Given the description of an element on the screen output the (x, y) to click on. 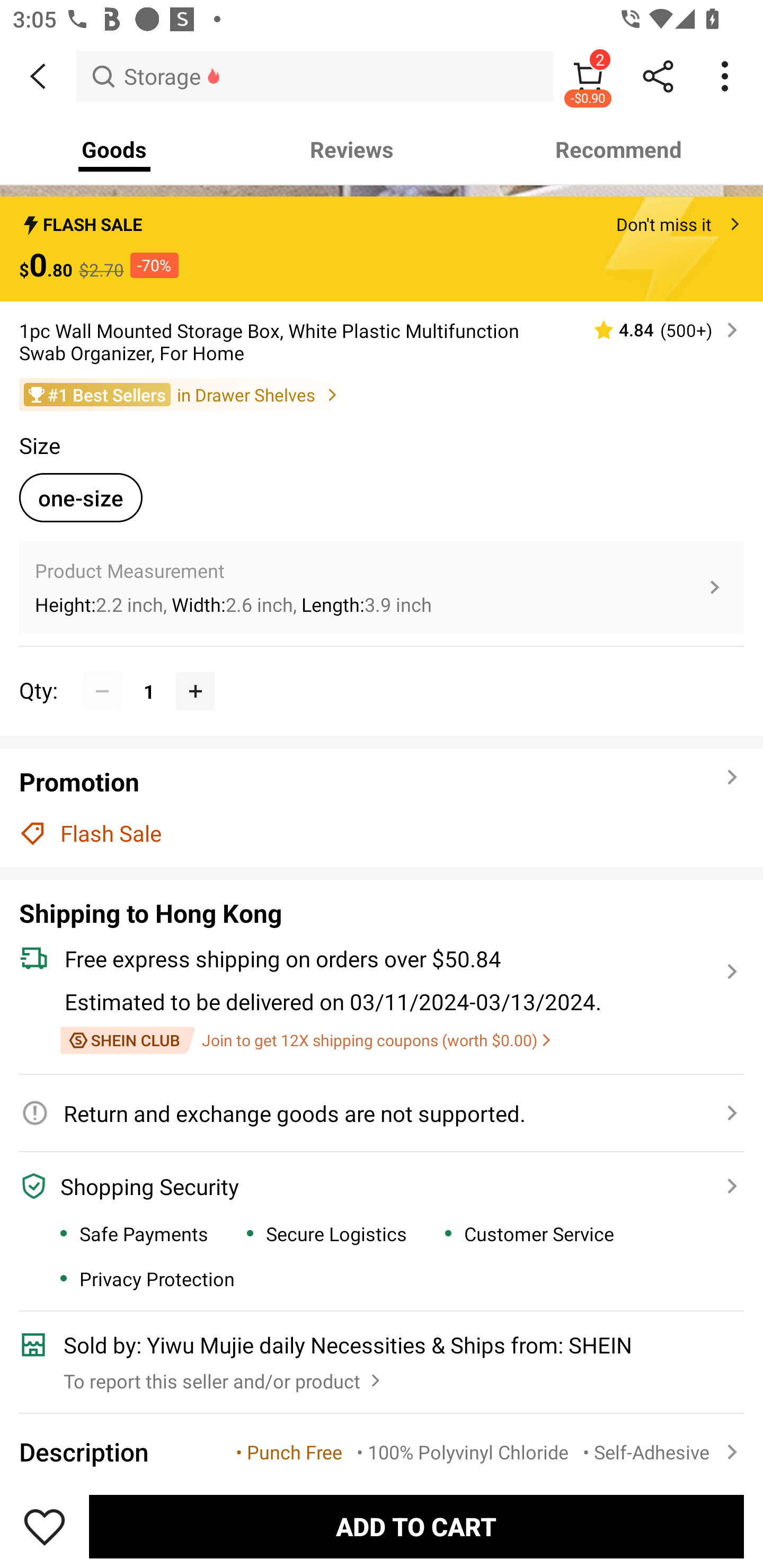
BACK (38, 75)
2 -$0.90 (588, 75)
Storage (314, 75)
Goods (114, 149)
Reviews (351, 149)
Recommend (618, 149)
FLASH SALE Don't miss it $0.80 $2.70 -70% (381, 248)
FLASH SALE Don't miss it (381, 219)
4.84 (500‎+) (658, 329)
#1 Best Sellers in Drawer Shelves (381, 393)
Size (39, 444)
one-size one-sizeselected option (80, 497)
Qty: 1 (381, 671)
Promotion Flash Sale (381, 807)
Join to get 12X shipping coupons (worth $0.00) (305, 1040)
Return and exchange goods are not supported. (370, 1112)
To report this seller and/or product   (224, 1376)
ADD TO CART (416, 1526)
Save (44, 1526)
